Given the description of an element on the screen output the (x, y) to click on. 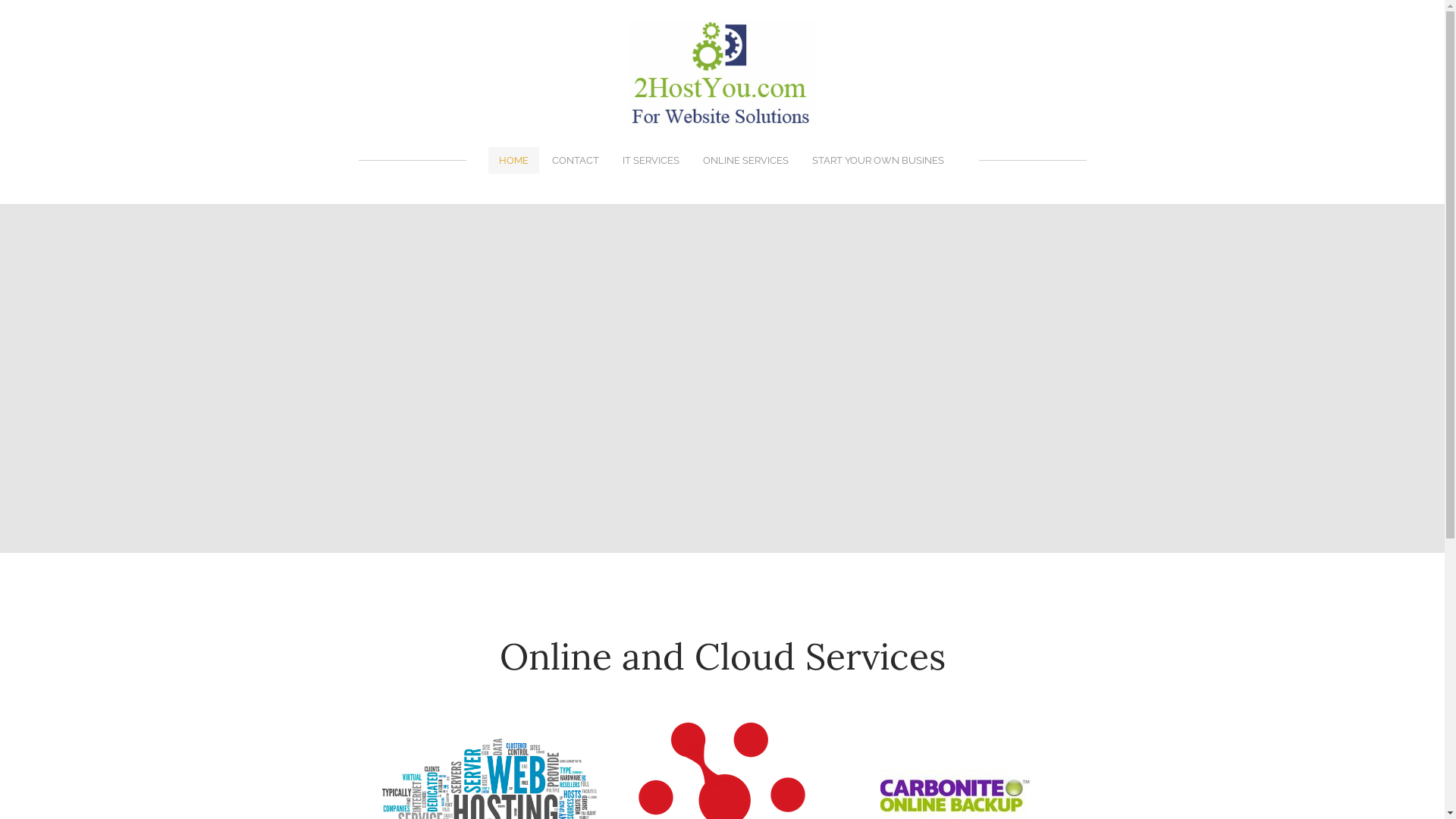
START YOUR OWN BUSINES Element type: text (881, 103)
HOME Element type: text (506, 103)
here Element type: text (776, 758)
CONTACT Element type: text (569, 103)
ONLINE SERVICES Element type: text (745, 103)
Control Panel Login For current Clients on the PLESK System Element type: text (717, 728)
Secure your home or business data today.   Element type: text (954, 748)
IT SERVICES Element type: text (646, 103)
